Given the description of an element on the screen output the (x, y) to click on. 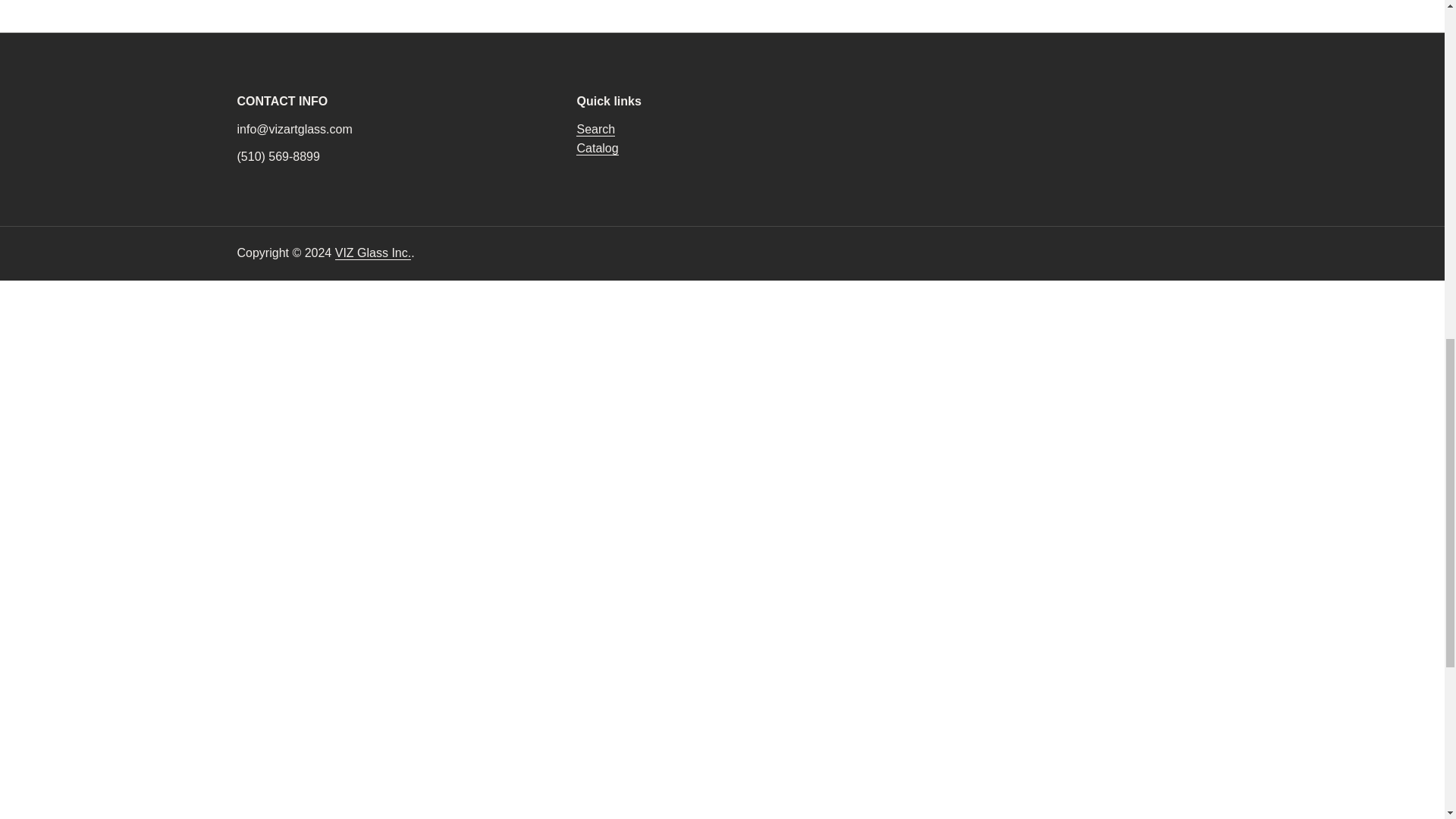
VIZ Glass Inc. (372, 253)
Catalog (596, 148)
Search (595, 129)
